Given the description of an element on the screen output the (x, y) to click on. 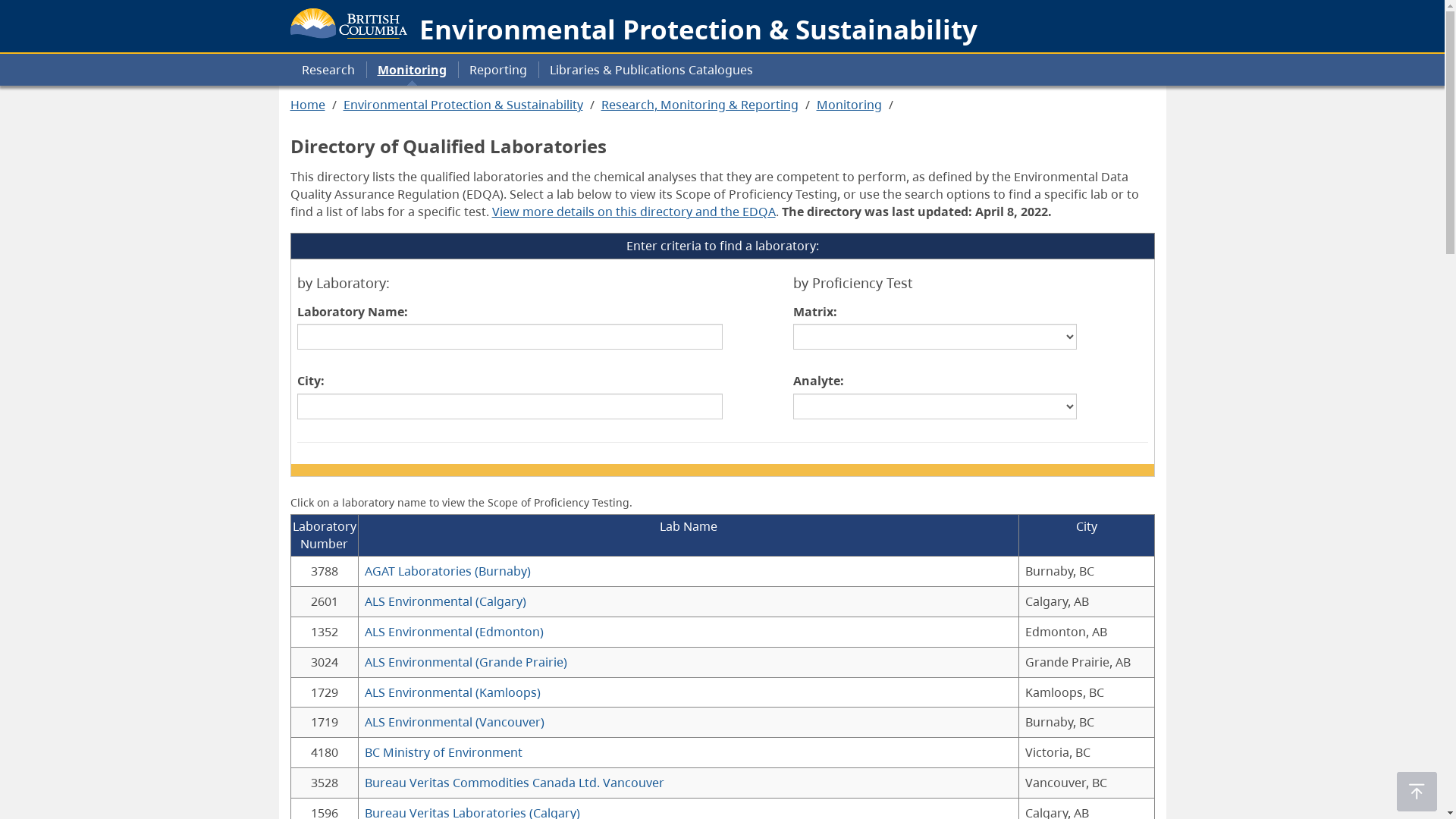
Monitoring Element type: text (848, 104)
Research Element type: text (327, 69)
Bureau Veritas Commodities Canada Ltd. Vancouver Element type: text (513, 782)
ALS Environmental (Kamloops) Element type: text (451, 692)
Reporting Element type: text (498, 69)
Government of B.C. logo Element type: hover (348, 19)
Libraries & Publications Catalogues Element type: text (651, 69)
Research, Monitoring & Reporting Element type: text (698, 104)
BC Ministry of Environment Element type: text (442, 751)
Back to top Element type: hover (1416, 791)
AGAT Laboratories (Burnaby) Element type: text (447, 570)
View more details on this directory and the EDQA Element type: text (633, 211)
ALS Environmental (Calgary) Element type: text (444, 601)
Environmental Protection & Sustainability Element type: text (462, 104)
ALS Environmental (Grande Prairie) Element type: text (465, 661)
Monitoring Element type: text (411, 69)
ALS Environmental (Edmonton) Element type: text (453, 631)
ALS Environmental (Vancouver) Element type: text (453, 721)
Home Element type: text (306, 104)
